Given the description of an element on the screen output the (x, y) to click on. 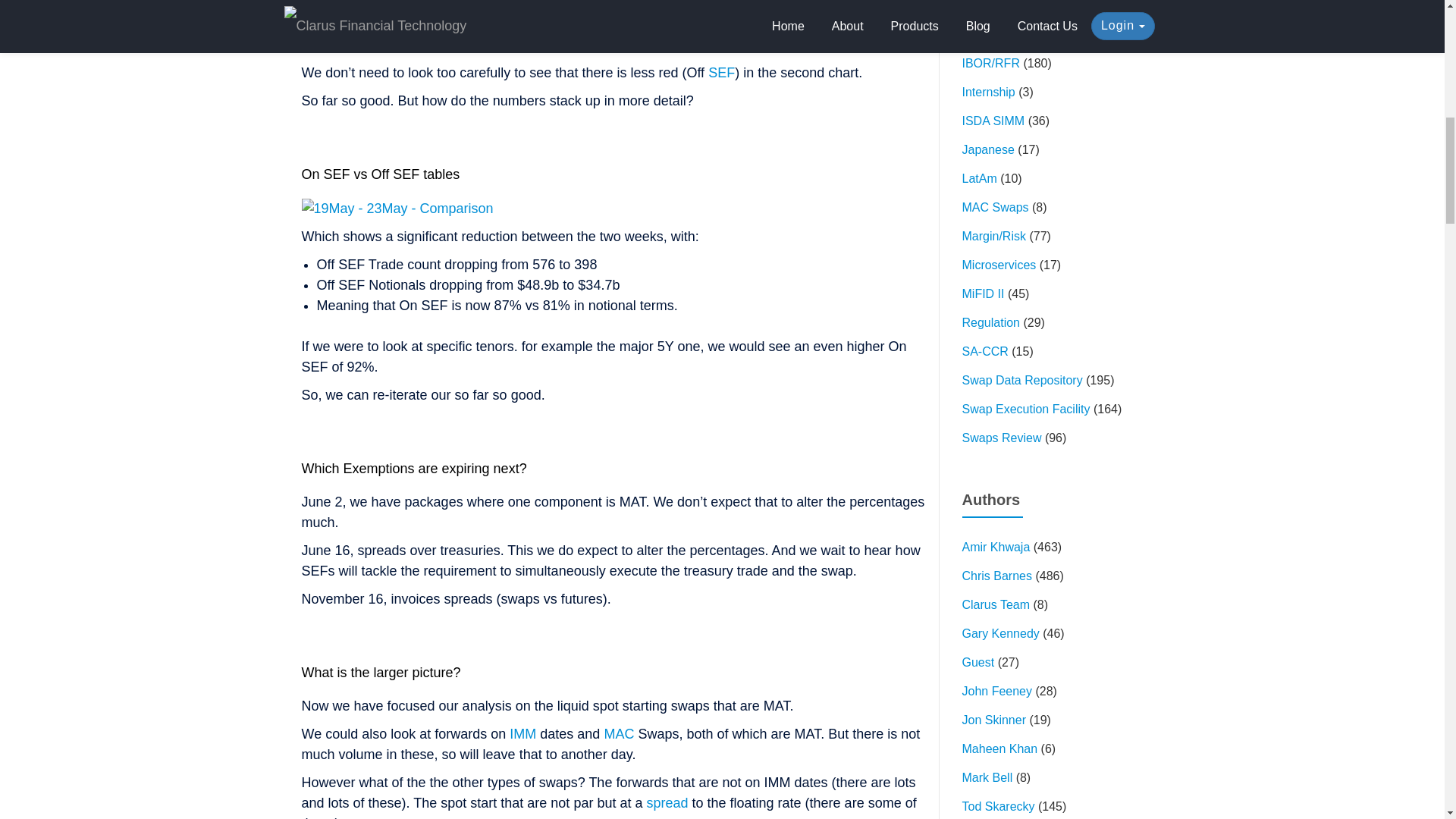
Glossary: MAC (618, 734)
IMM (522, 734)
Glossary: Spread (666, 802)
spread (666, 802)
SEF (721, 72)
MAC (618, 734)
Glossary: SEF (721, 72)
Glossary: IMM (522, 734)
